Given the description of an element on the screen output the (x, y) to click on. 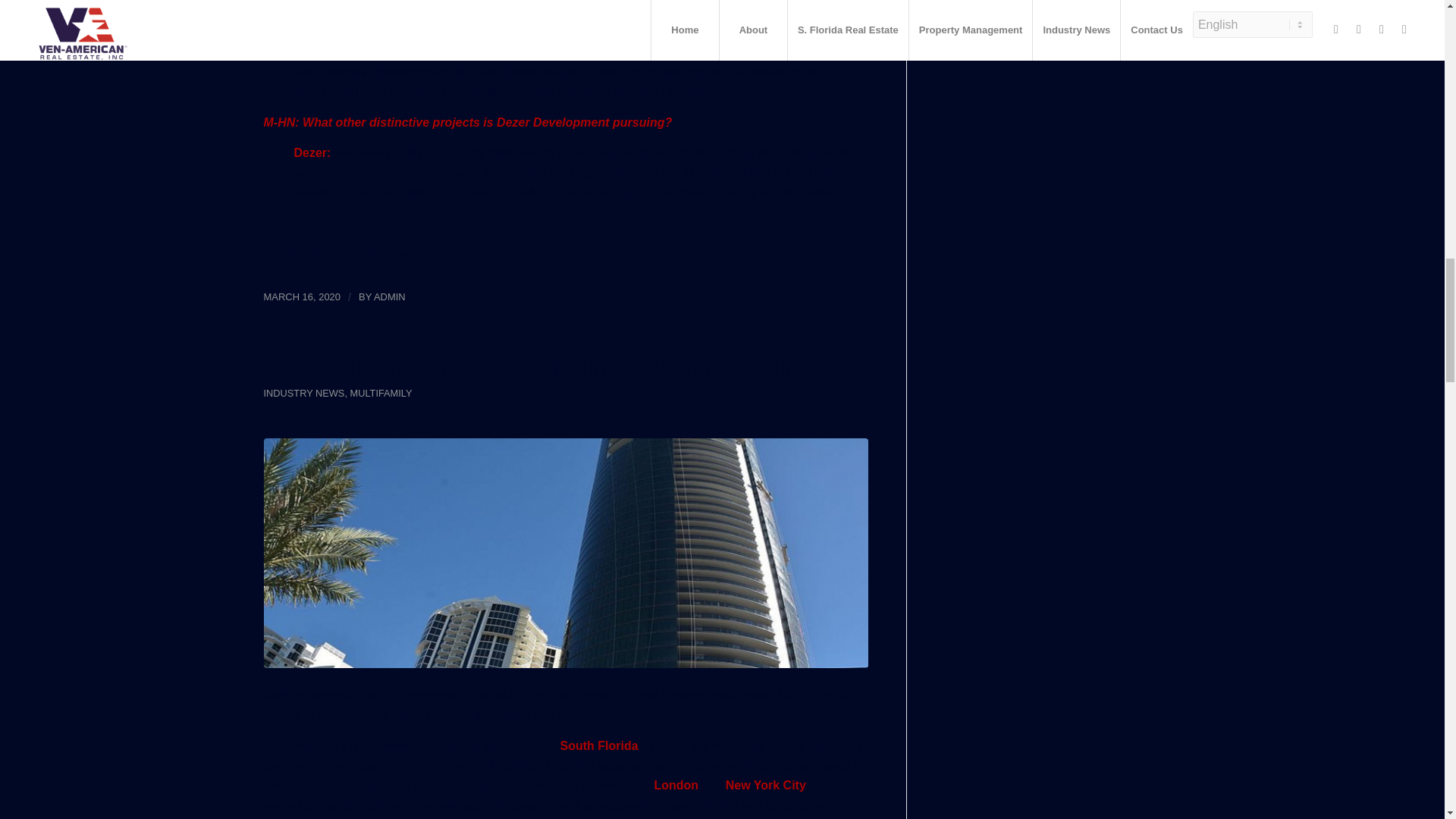
INDUSTRY NEWS (304, 392)
Posts by ADMIN (390, 296)
For High-End Branded Buildings, Miami Reigns (534, 366)
ADMIN (390, 296)
Multi-Housing News (362, 252)
Permanent Link: For High-End Branded Buildings, Miami Reigns (534, 366)
MULTIFAMILY (381, 392)
